Given the description of an element on the screen output the (x, y) to click on. 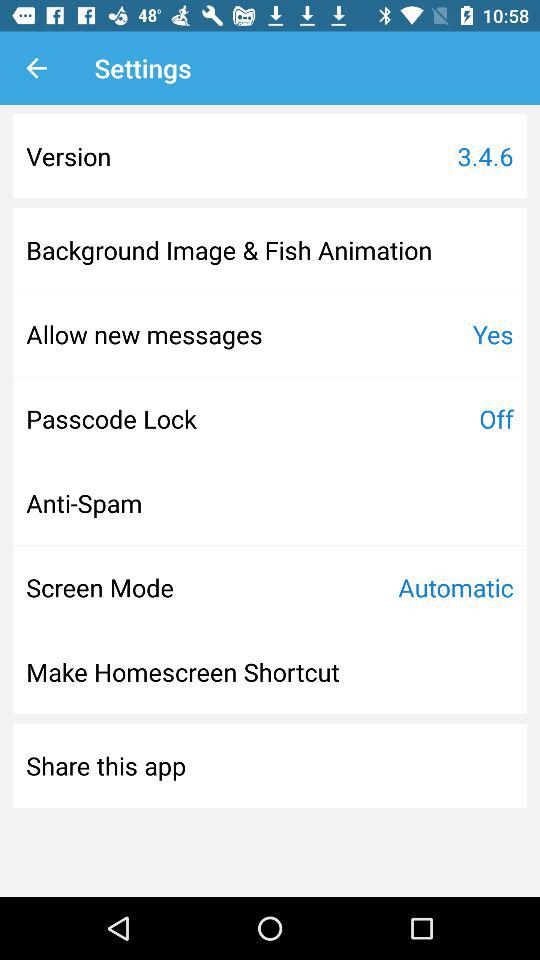
tap the yes (492, 334)
